Given the description of an element on the screen output the (x, y) to click on. 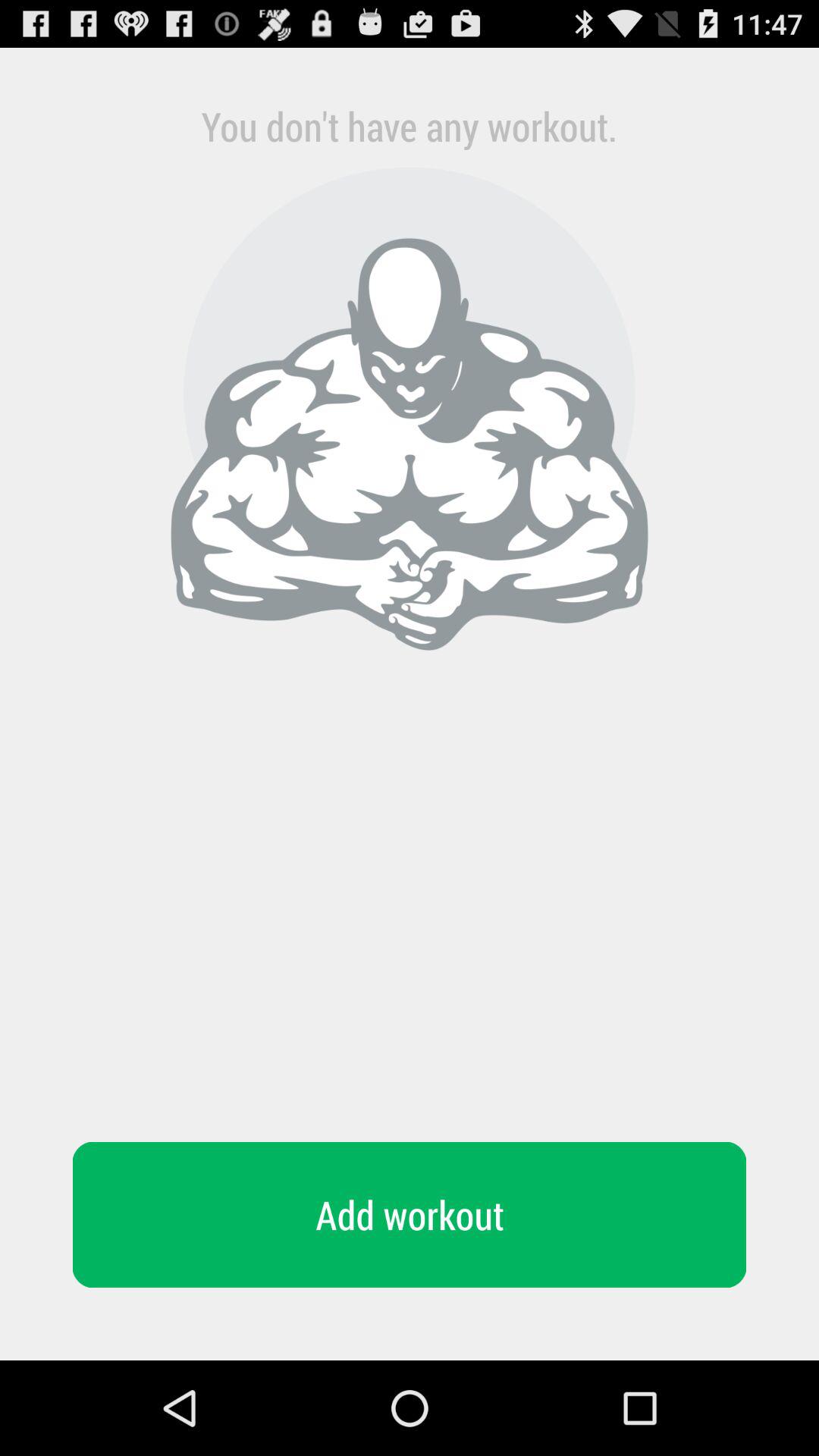
press the add workout (409, 1214)
